Given the description of an element on the screen output the (x, y) to click on. 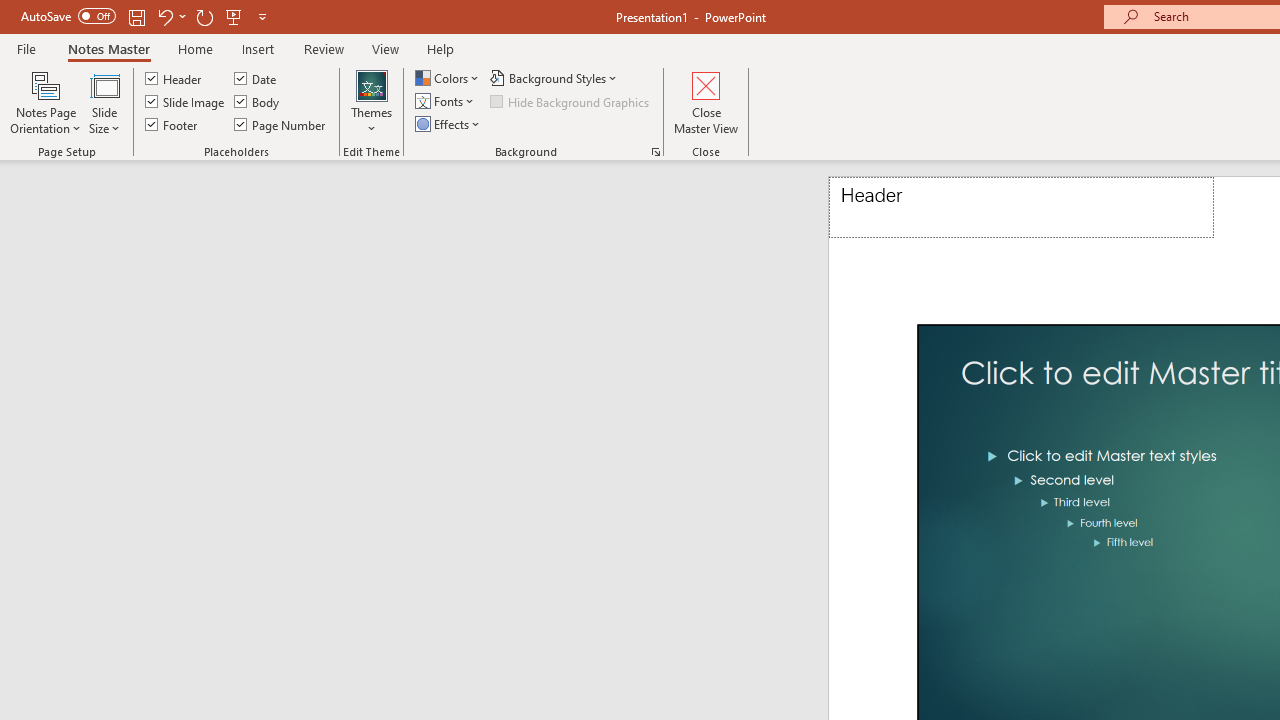
Slide Image (186, 101)
Format Background... (655, 151)
Colors (449, 78)
Notes Master (108, 48)
Body (257, 101)
Close Master View (706, 102)
